Given the description of an element on the screen output the (x, y) to click on. 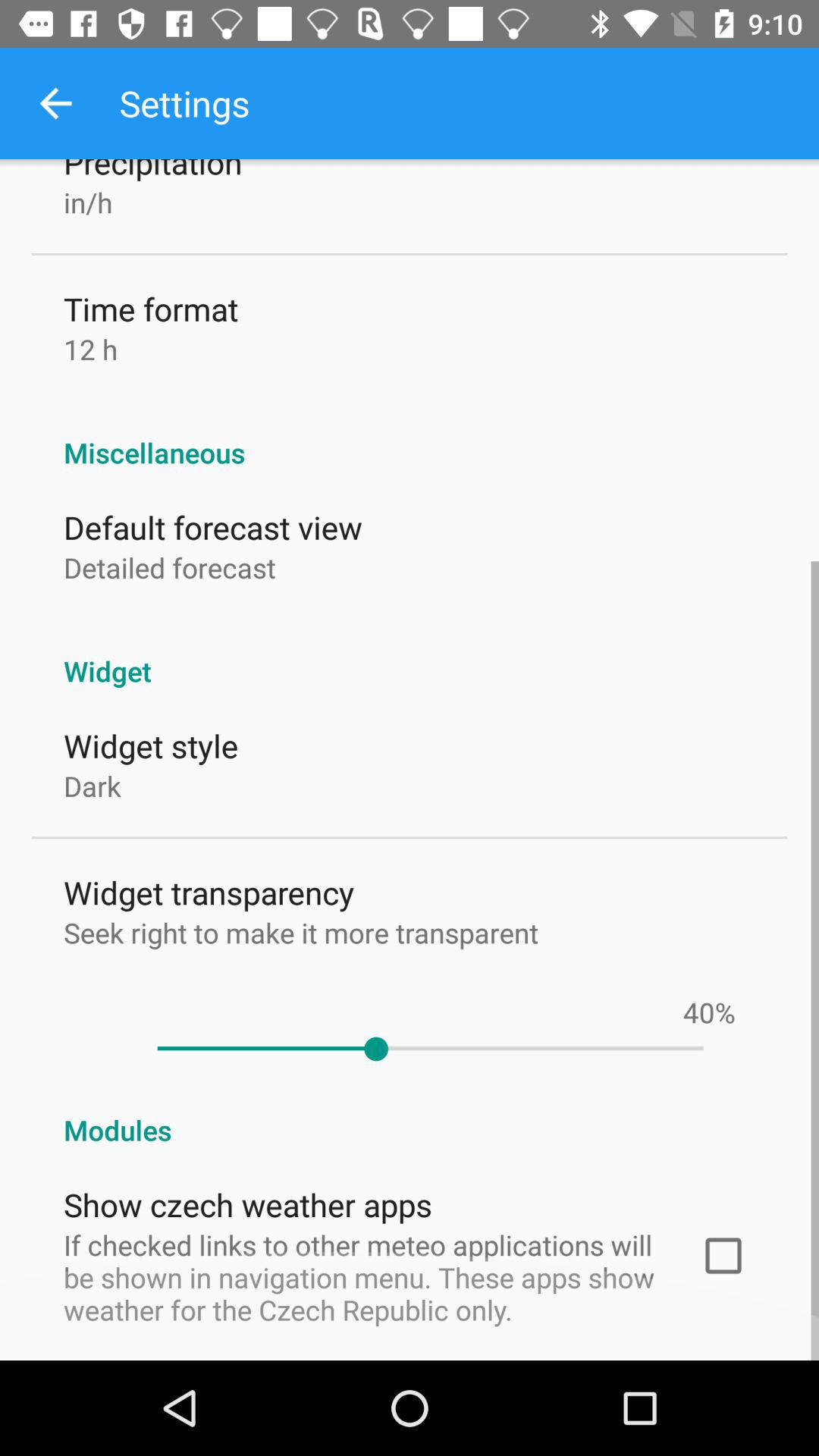
click item above the detailed forecast (212, 526)
